Given the description of an element on the screen output the (x, y) to click on. 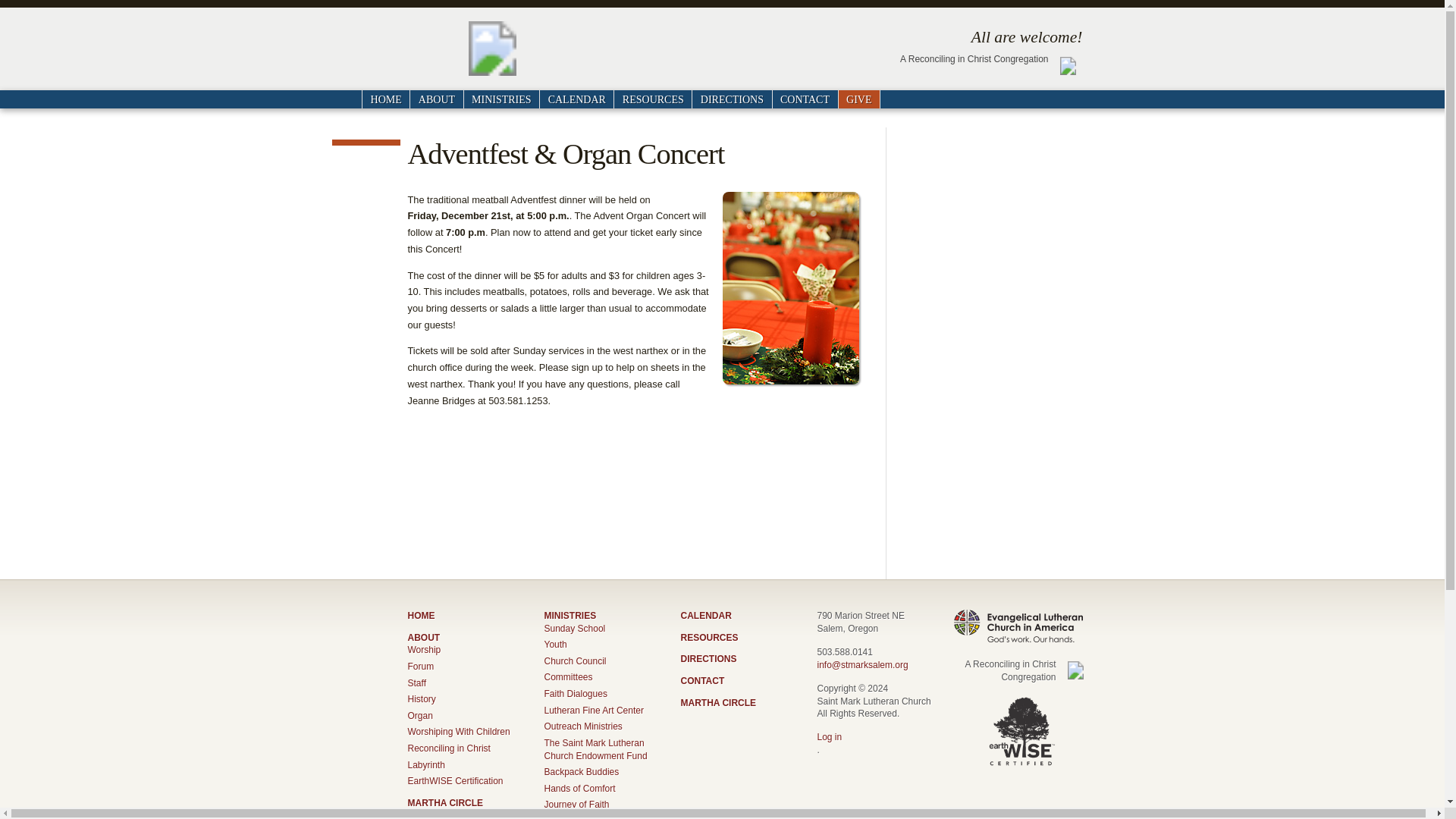
CONTACT (804, 99)
Church Council (575, 661)
Forum (420, 665)
The Saint Mark Lutheran Church Endowment Fund (595, 749)
RESOURCES (651, 99)
DIRECTIONS (731, 99)
The Reformation Continues (600, 817)
CALENDAR (575, 99)
Staff (416, 683)
Backpack Buddies (582, 771)
